Given the description of an element on the screen output the (x, y) to click on. 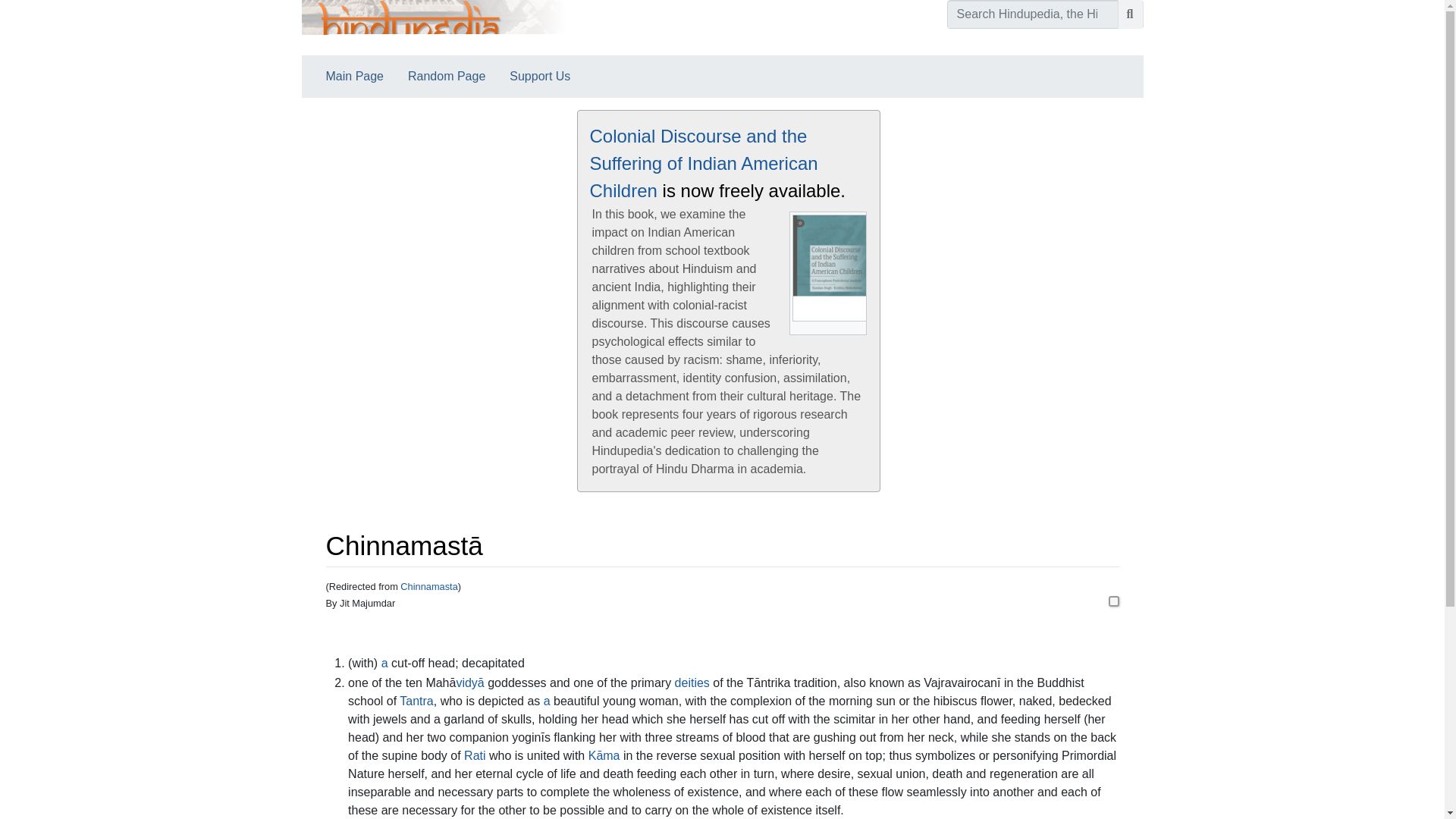
Visit the main page (434, 26)
Random Page (446, 76)
Tantra (415, 700)
Support Us (539, 76)
Go to a page with this exact name if it exists (1130, 14)
Go (1130, 14)
Enlarge (854, 327)
deities (692, 682)
Deities (692, 682)
